Given the description of an element on the screen output the (x, y) to click on. 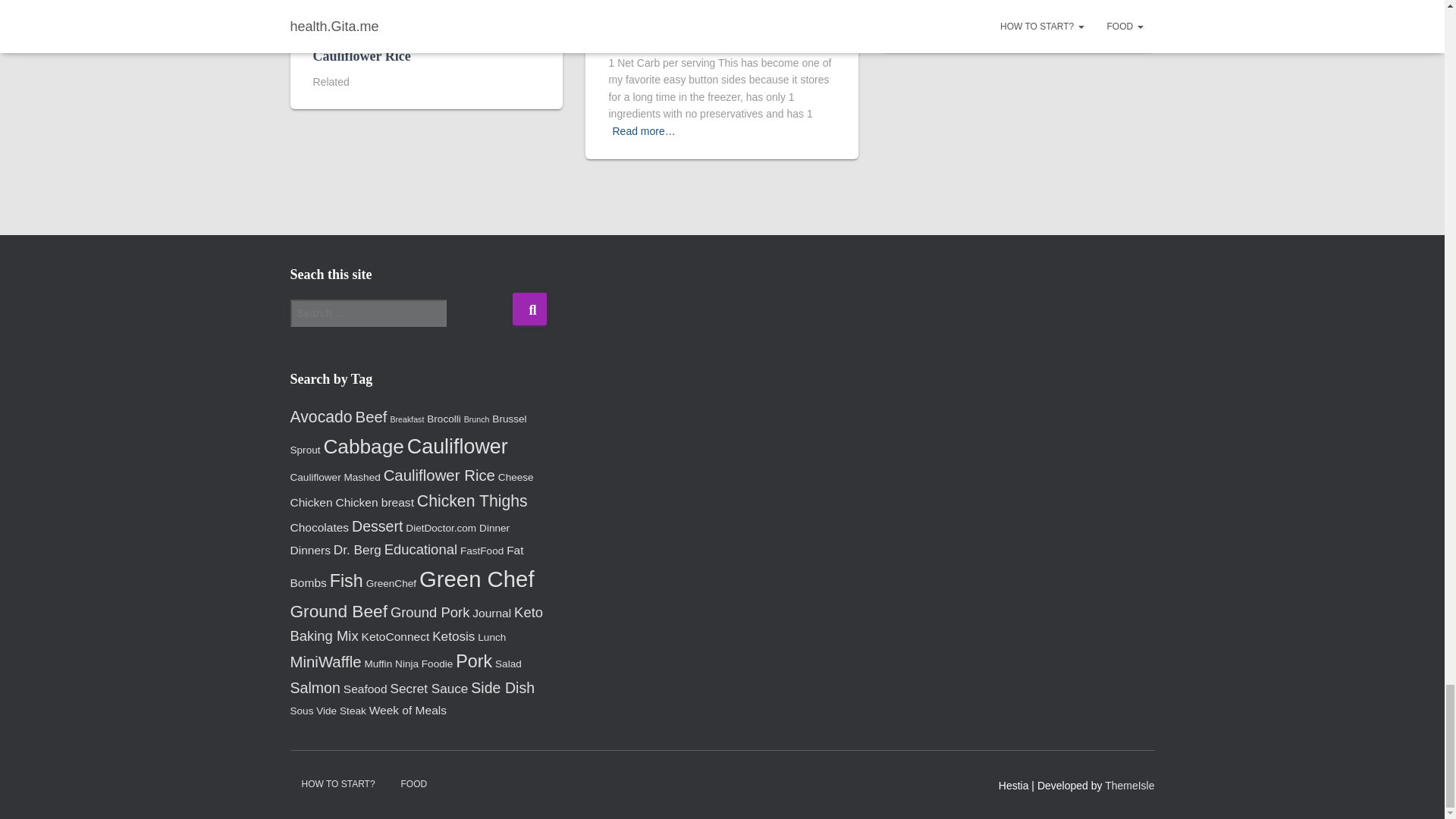
Search (529, 308)
Hanover Frozen Riced Cauliflower (710, 36)
FOOD (326, 11)
Meatballs in Thai Panang Curry atop Cauliflower Rice (422, 45)
Search (529, 308)
FOOD (621, 11)
